Given the description of an element on the screen output the (x, y) to click on. 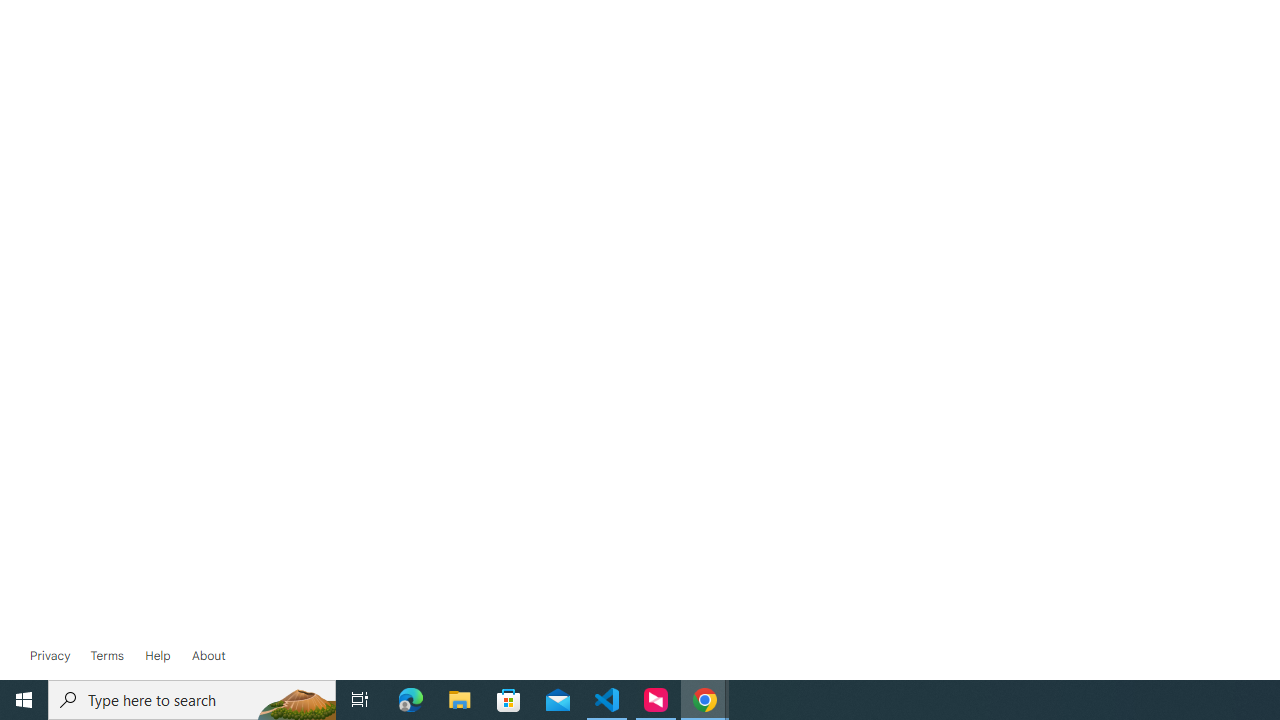
Learn more about Google Account (208, 655)
Privacy (50, 655)
Help (158, 655)
